Given the description of an element on the screen output the (x, y) to click on. 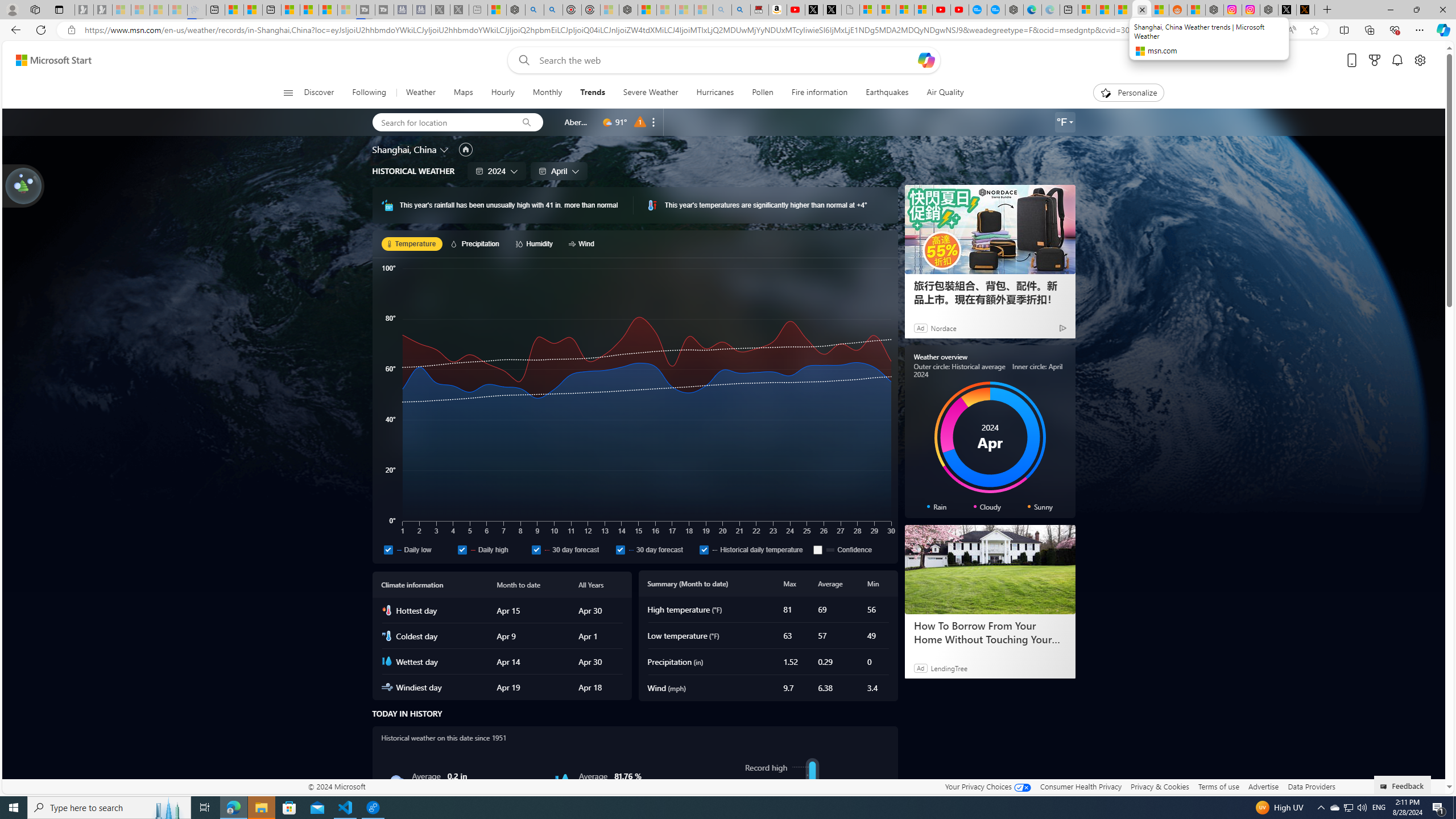
Your Privacy Choices (987, 785)
Terms of use (1218, 786)
Change location (445, 149)
LendingTree (948, 668)
Data Providers (1311, 785)
